Given the description of an element on the screen output the (x, y) to click on. 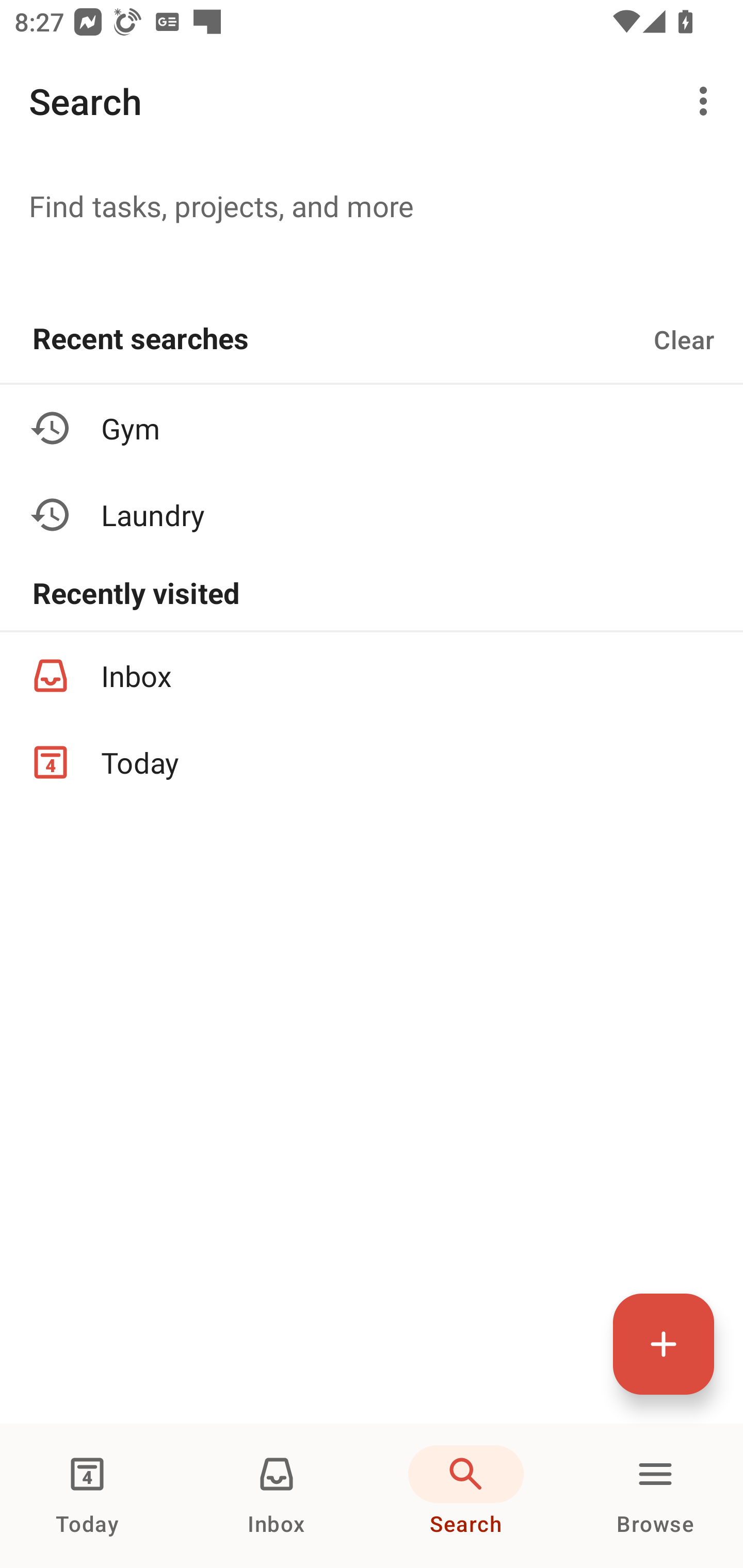
Search More options (371, 100)
More options (706, 101)
Find tasks, projects, and more (371, 205)
Clear (683, 339)
Gym (371, 427)
Laundry (371, 514)
Inbox (371, 675)
Today (371, 762)
Quick add (663, 1343)
Today (87, 1495)
Inbox (276, 1495)
Browse (655, 1495)
